Given the description of an element on the screen output the (x, y) to click on. 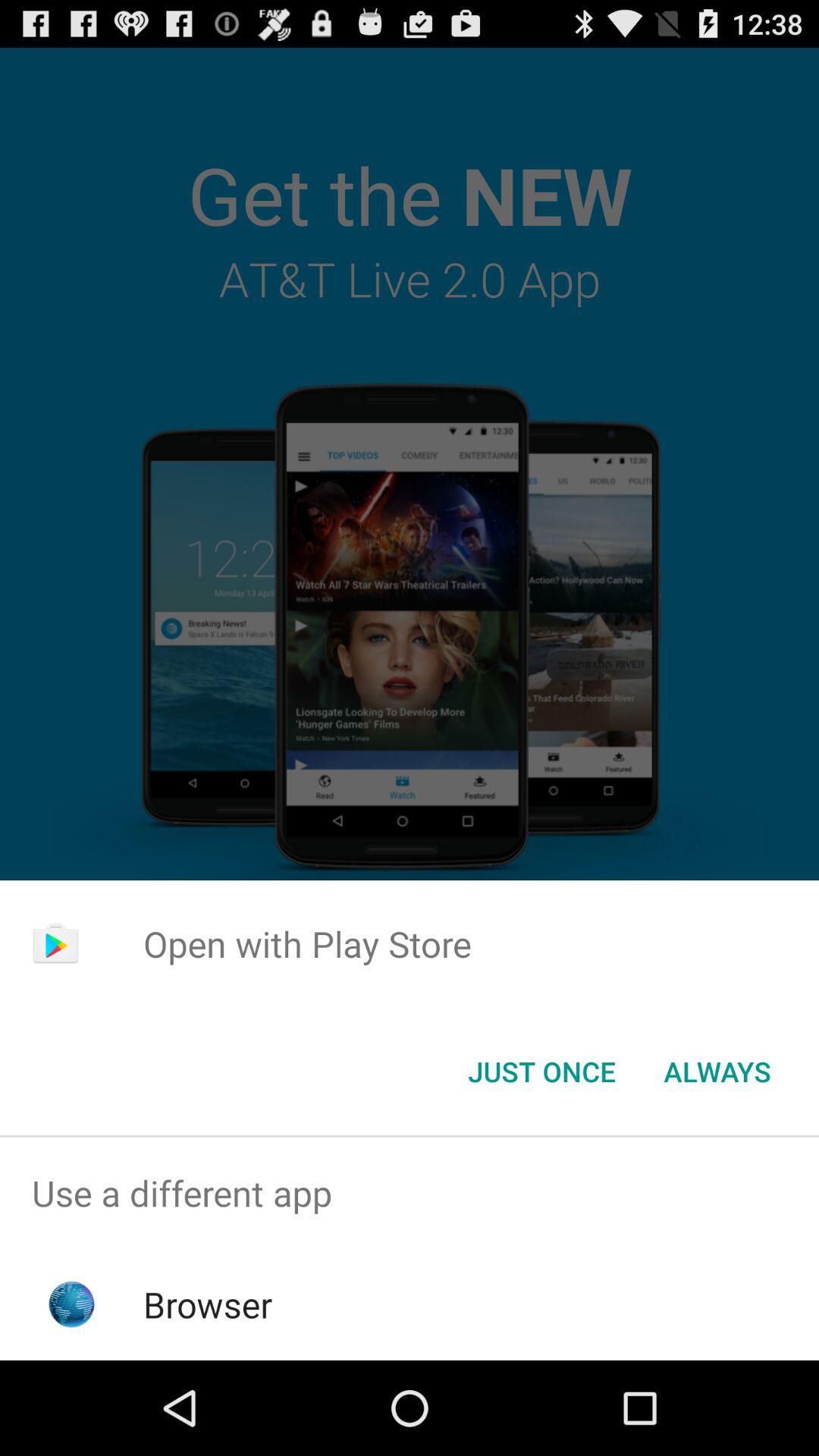
jump to the browser app (207, 1304)
